Given the description of an element on the screen output the (x, y) to click on. 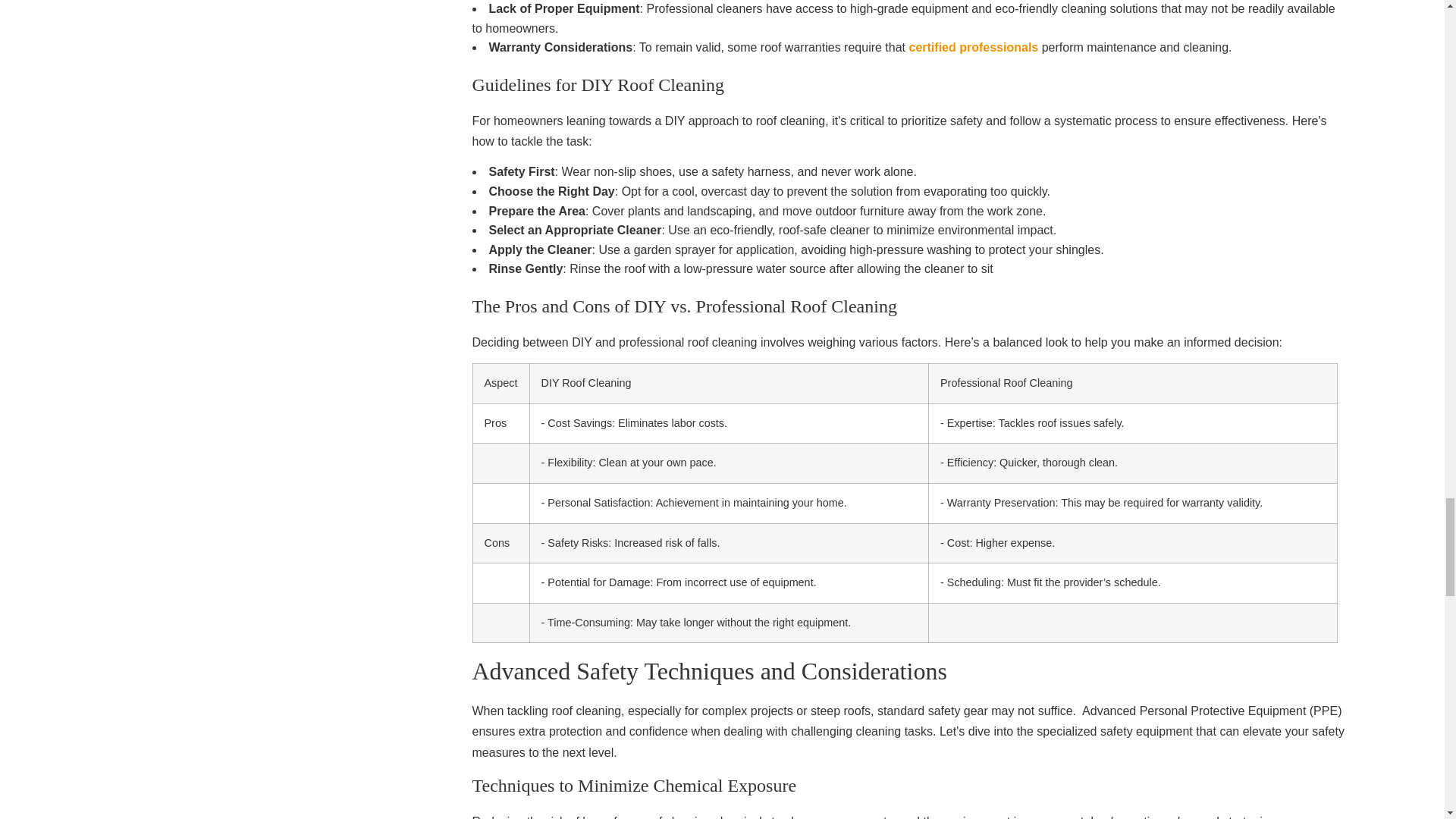
certified professionals (973, 47)
